Given the description of an element on the screen output the (x, y) to click on. 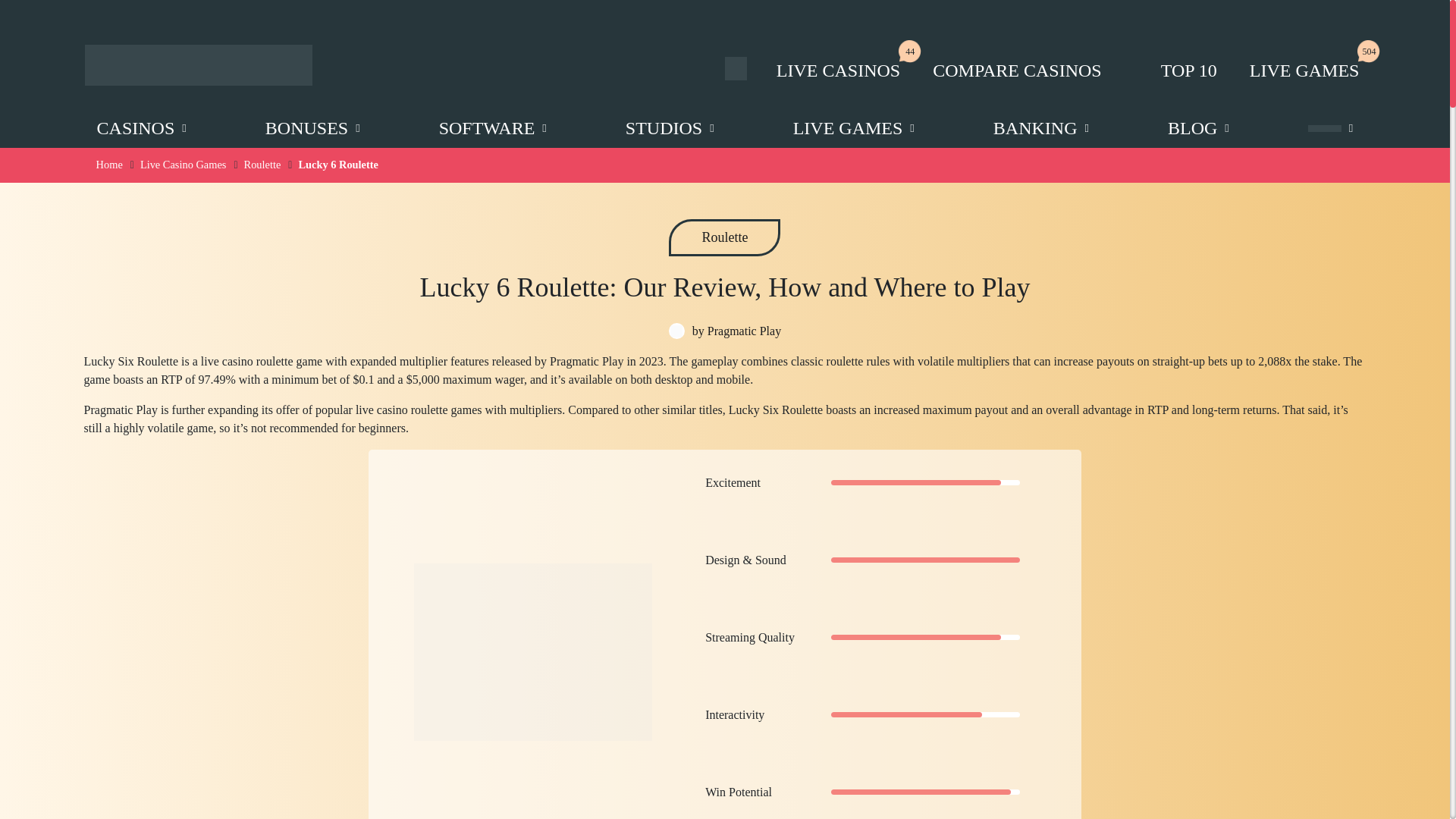
COMPARE CASINOS (1006, 70)
TOP 10 (1165, 70)
LIVE GAMES (1294, 70)
